Given the description of an element on the screen output the (x, y) to click on. 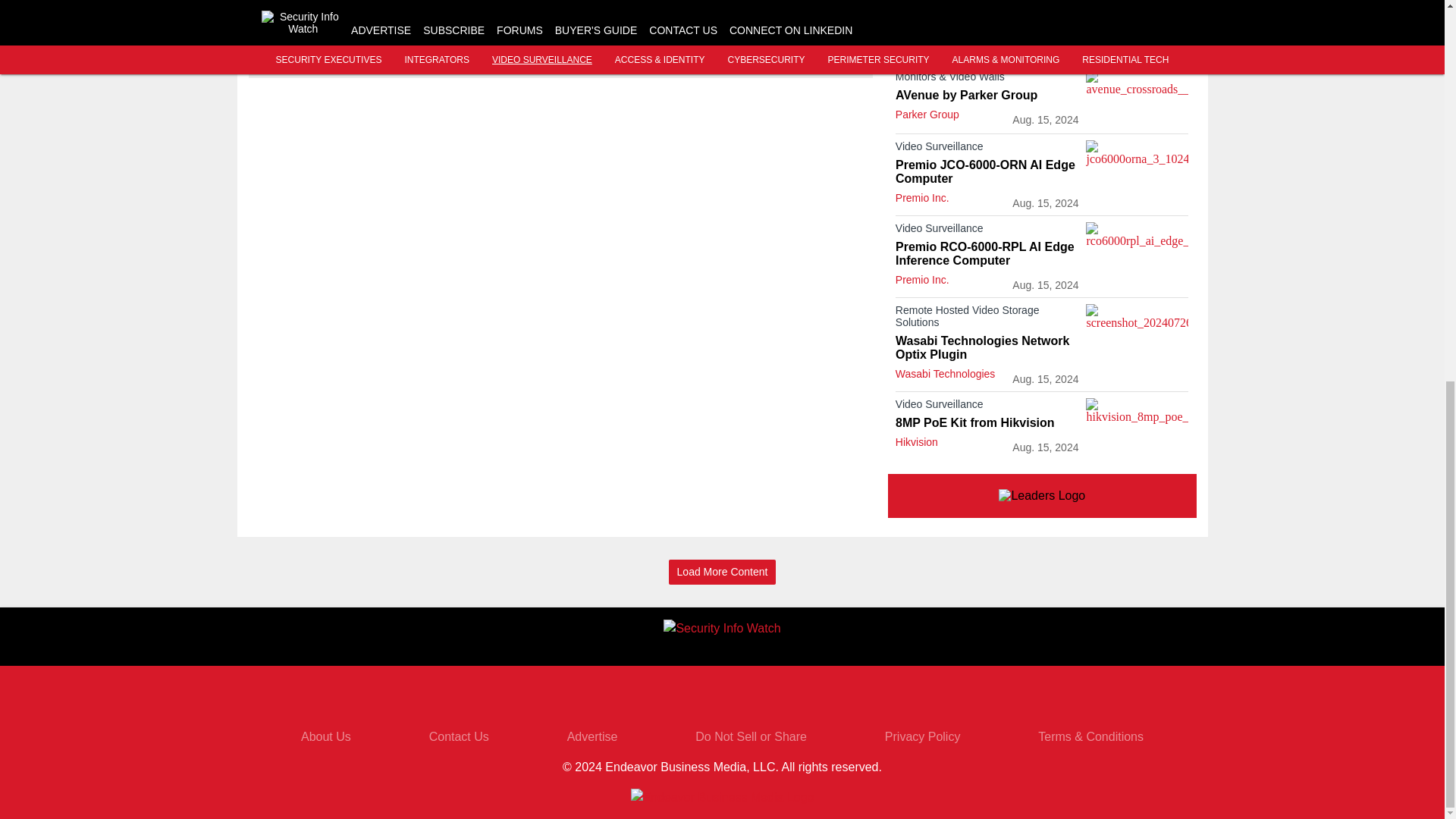
Wasabi Technologies Network Optix Plugin (986, 347)
Premio Inc. (922, 197)
Video Surveillance (986, 230)
Premio RCO-6000-RPL AI Edge Inference Computer (986, 253)
Remote Hosted Video Storage Solutions (986, 318)
Premio Inc. (922, 279)
Parker Group (927, 114)
Wasabi Technologies (945, 373)
AVenue by Parker Group (986, 95)
Premio JCO-6000-ORN AI Edge Computer (986, 171)
